Given the description of an element on the screen output the (x, y) to click on. 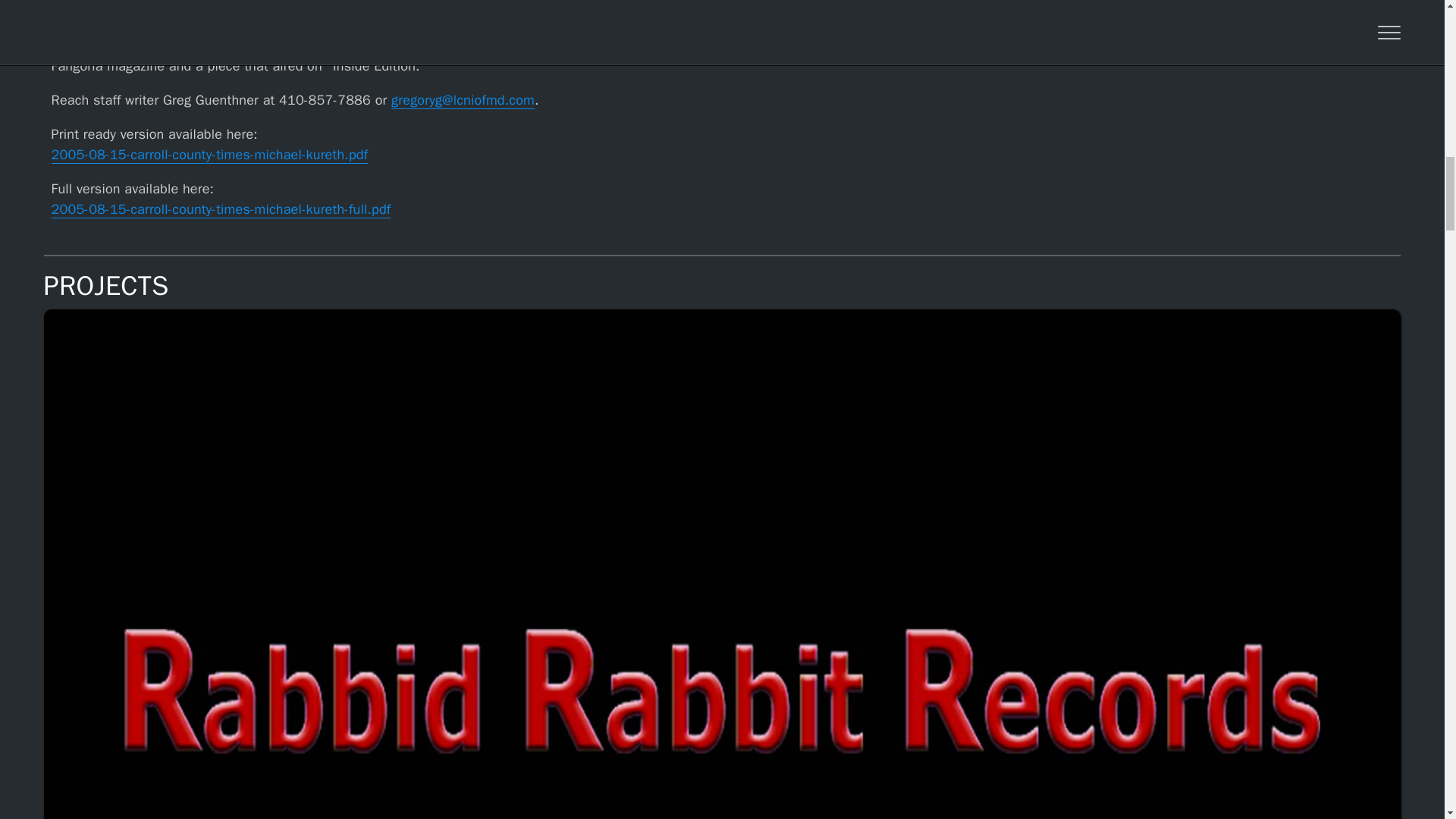
2005-08-15-carroll-county-times-michael-kureth.pdf (209, 154)
2005-08-15-carroll-county-times-michael-kureth-full.pdf (220, 209)
